Given the description of an element on the screen output the (x, y) to click on. 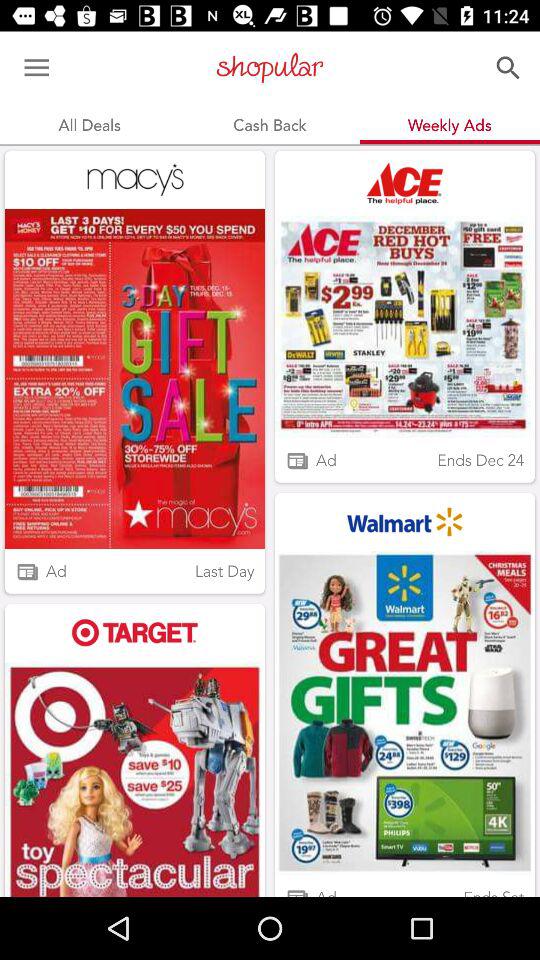
click the item above weekly ads (508, 67)
